Given the description of an element on the screen output the (x, y) to click on. 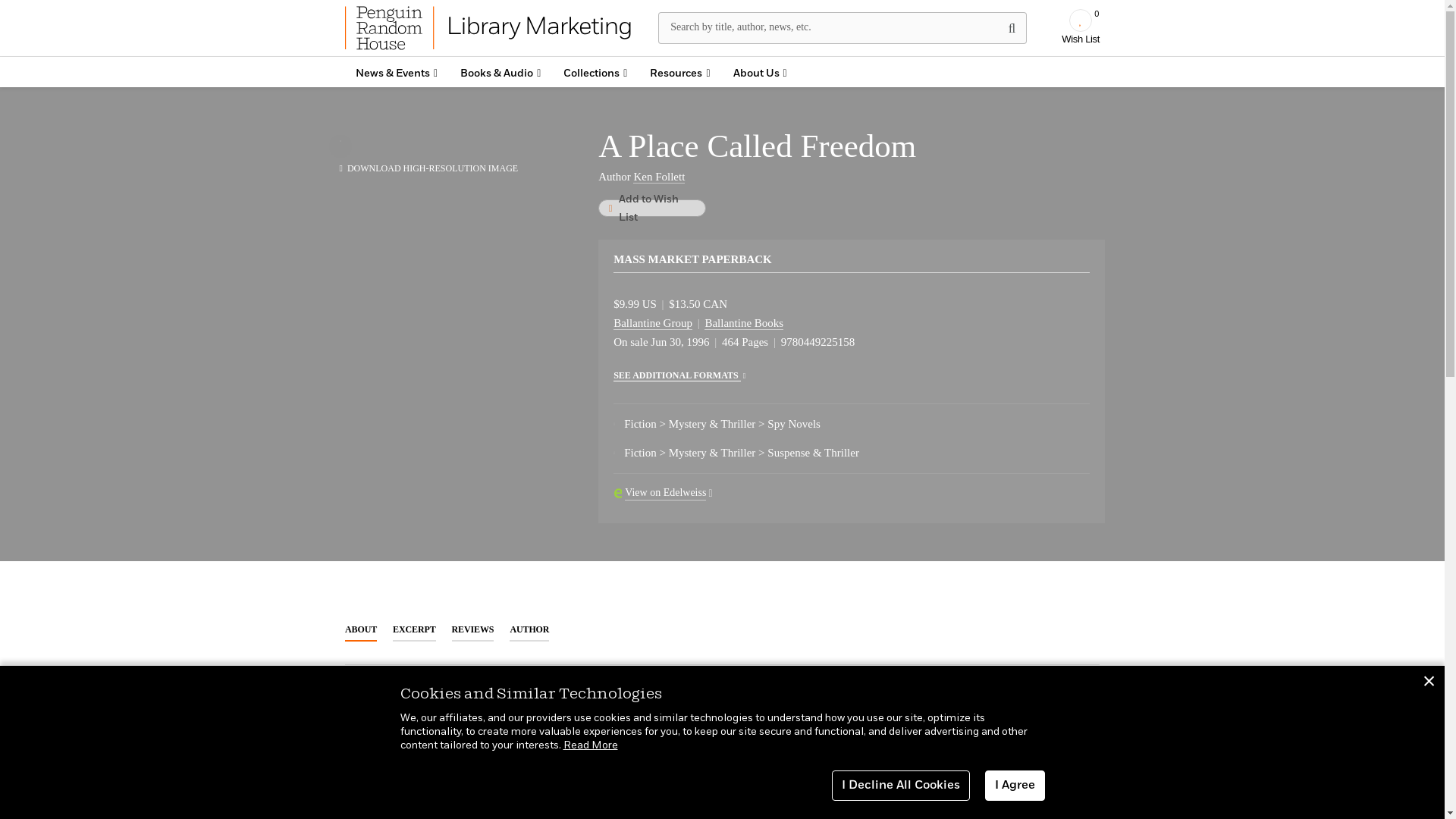
Collections (1080, 27)
